Given the description of an element on the screen output the (x, y) to click on. 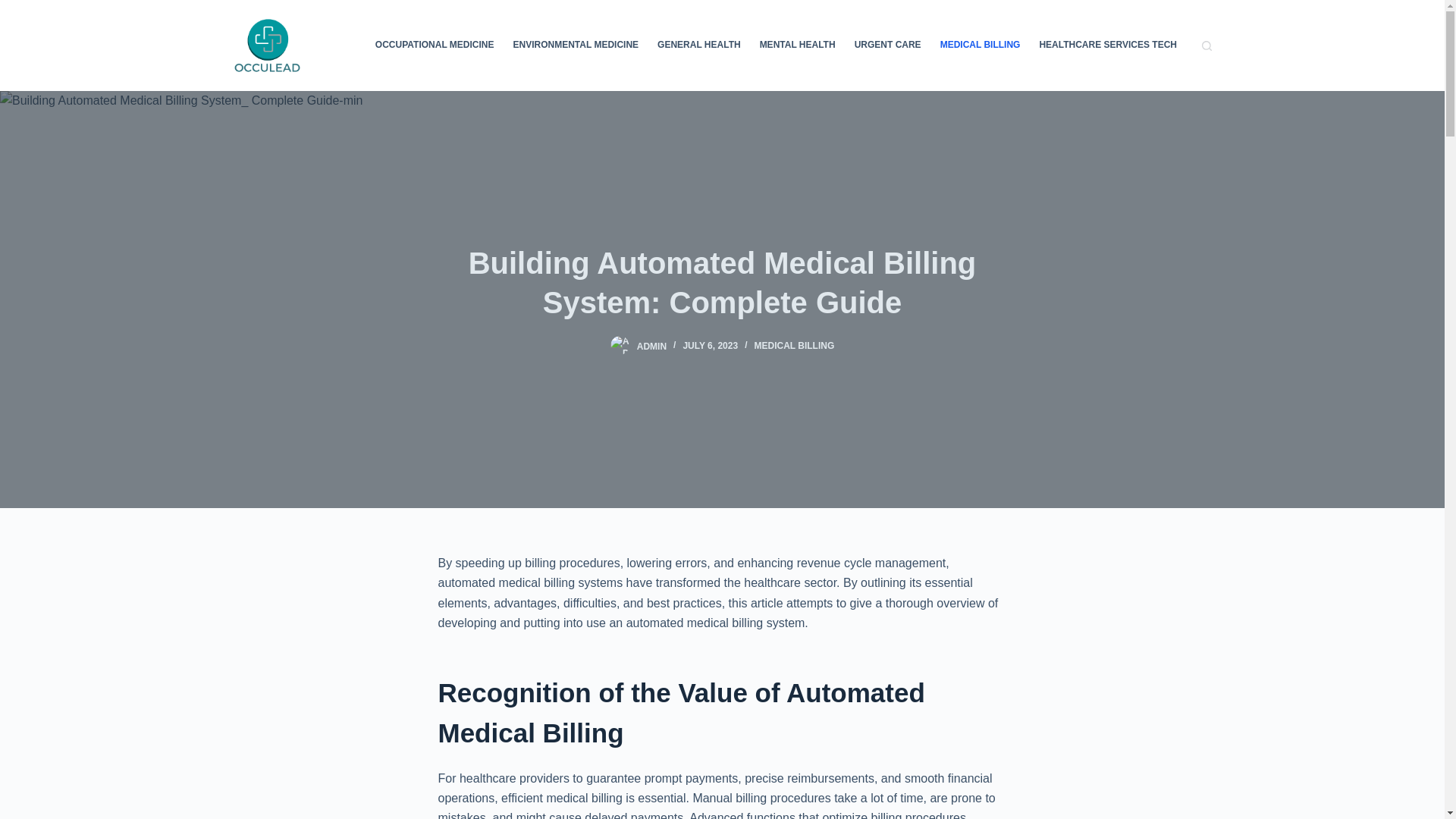
Skip to content (15, 7)
ENVIRONMENTAL MEDICINE (575, 45)
URGENT CARE (887, 45)
Building Automated Medical Billing System: Complete Guide (722, 281)
GENERAL HEALTH (699, 45)
Posts by Admin (651, 345)
MEDICAL BILLING (979, 45)
OCCUPATIONAL MEDICINE (434, 45)
MEDICAL BILLING (794, 345)
ADMIN (651, 345)
